Given the description of an element on the screen output the (x, y) to click on. 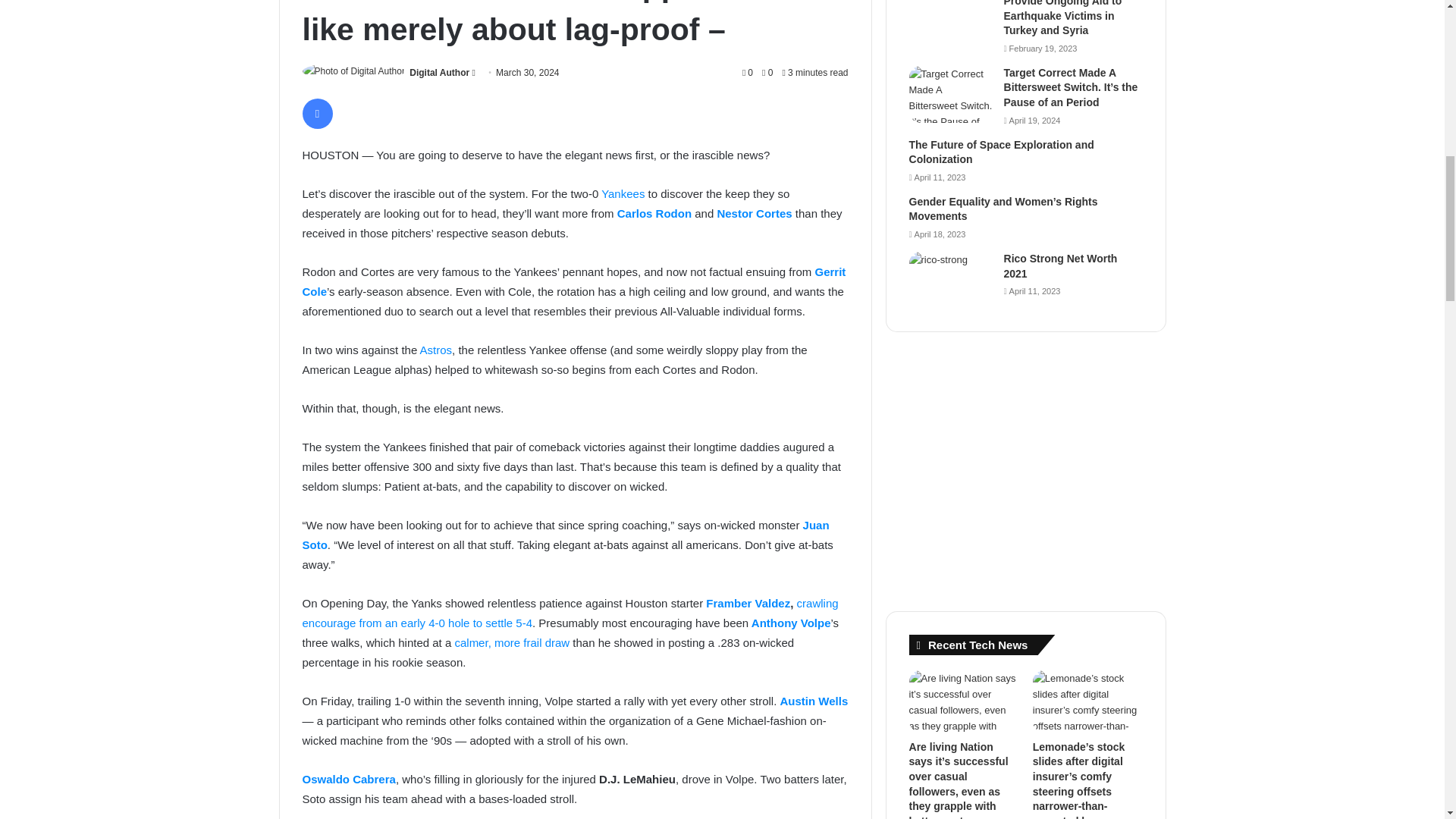
Carlos Rodon (654, 213)
Gerrit Cole (573, 281)
Astros (436, 349)
Facebook (316, 113)
Framber Valdez (748, 603)
Nestor Cortes (754, 213)
Digital Author (438, 72)
crawling encourage from an early 4-0 hole to settle 5-4 (569, 613)
Digital Author (438, 72)
Yankees (624, 193)
Juan Soto (564, 534)
Anthony Volpe (791, 622)
calmer, more frail draw (511, 642)
Facebook (316, 113)
